Given the description of an element on the screen output the (x, y) to click on. 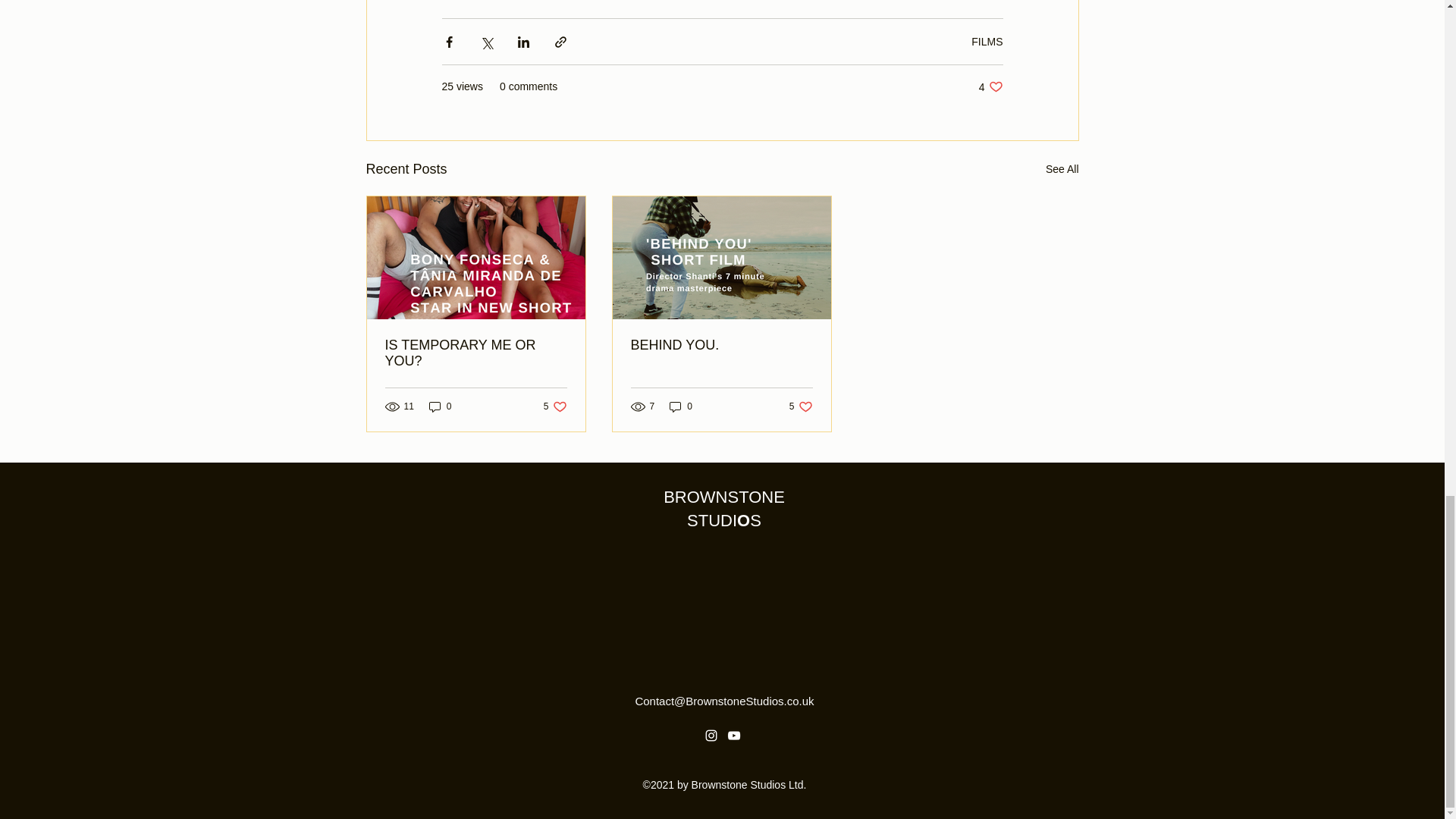
FILMS (990, 86)
See All (987, 41)
